Given the description of an element on the screen output the (x, y) to click on. 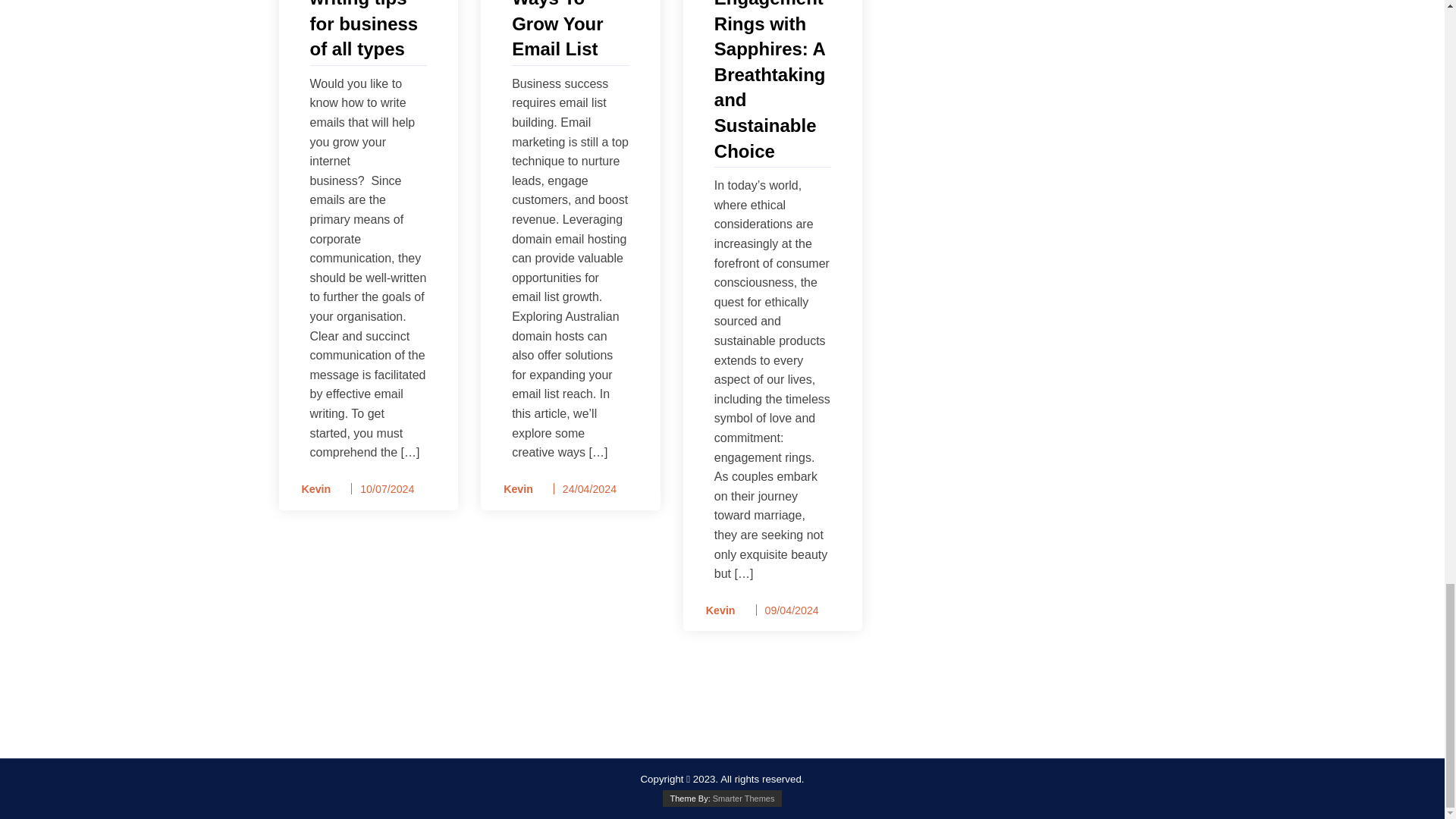
Top 8 email writing tips for business of all types (367, 31)
Kevin (311, 488)
Kevin (715, 610)
Creative Ways To Grow Your Email List (570, 31)
Kevin (512, 488)
